Given the description of an element on the screen output the (x, y) to click on. 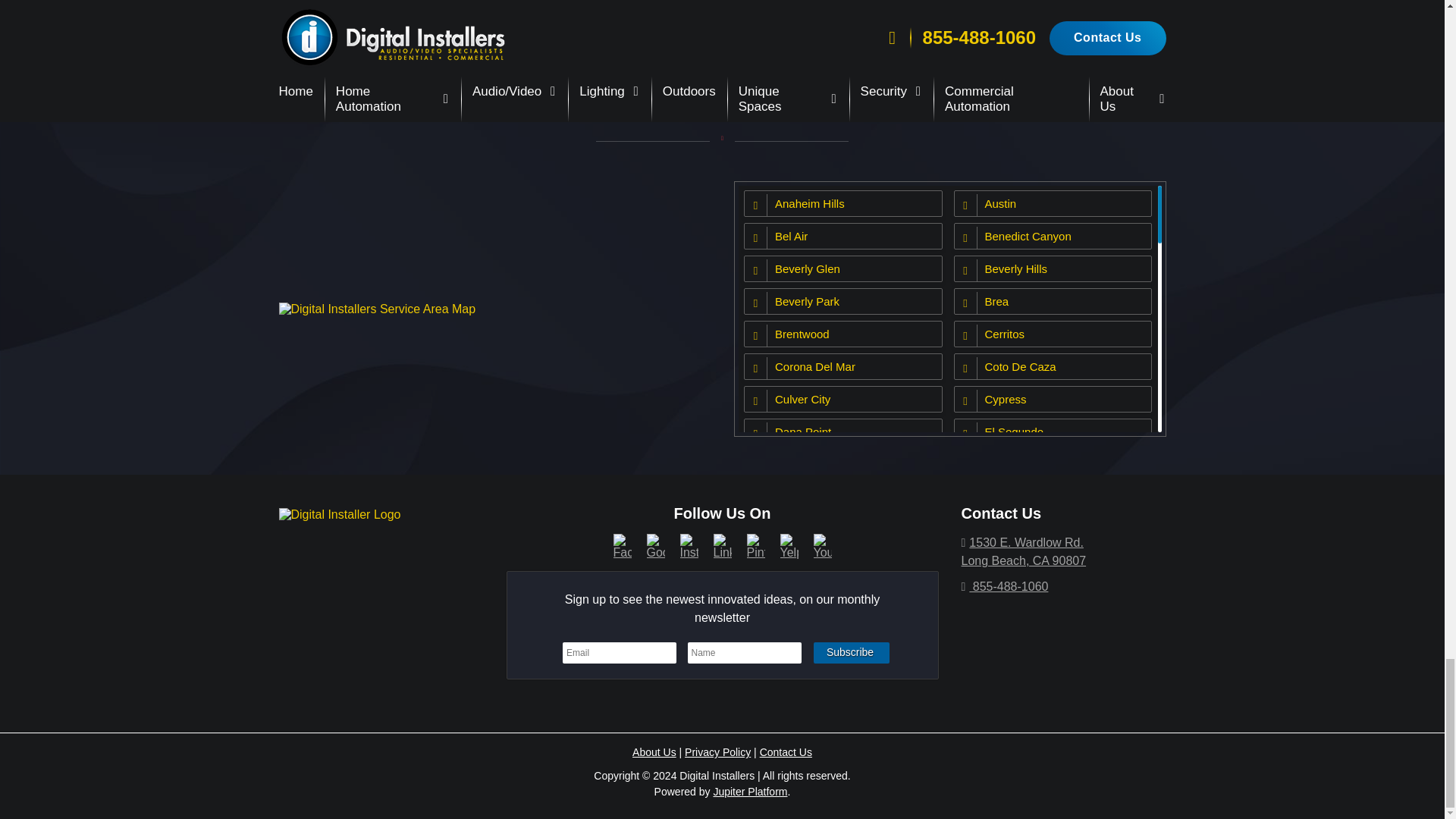
Subscribe  (851, 652)
View Instagram (688, 545)
View Yelp (787, 545)
View Youtube (821, 545)
View Pinterest  (754, 545)
View Facebook (621, 545)
View LinkedIn (721, 545)
View Google (654, 545)
